Given the description of an element on the screen output the (x, y) to click on. 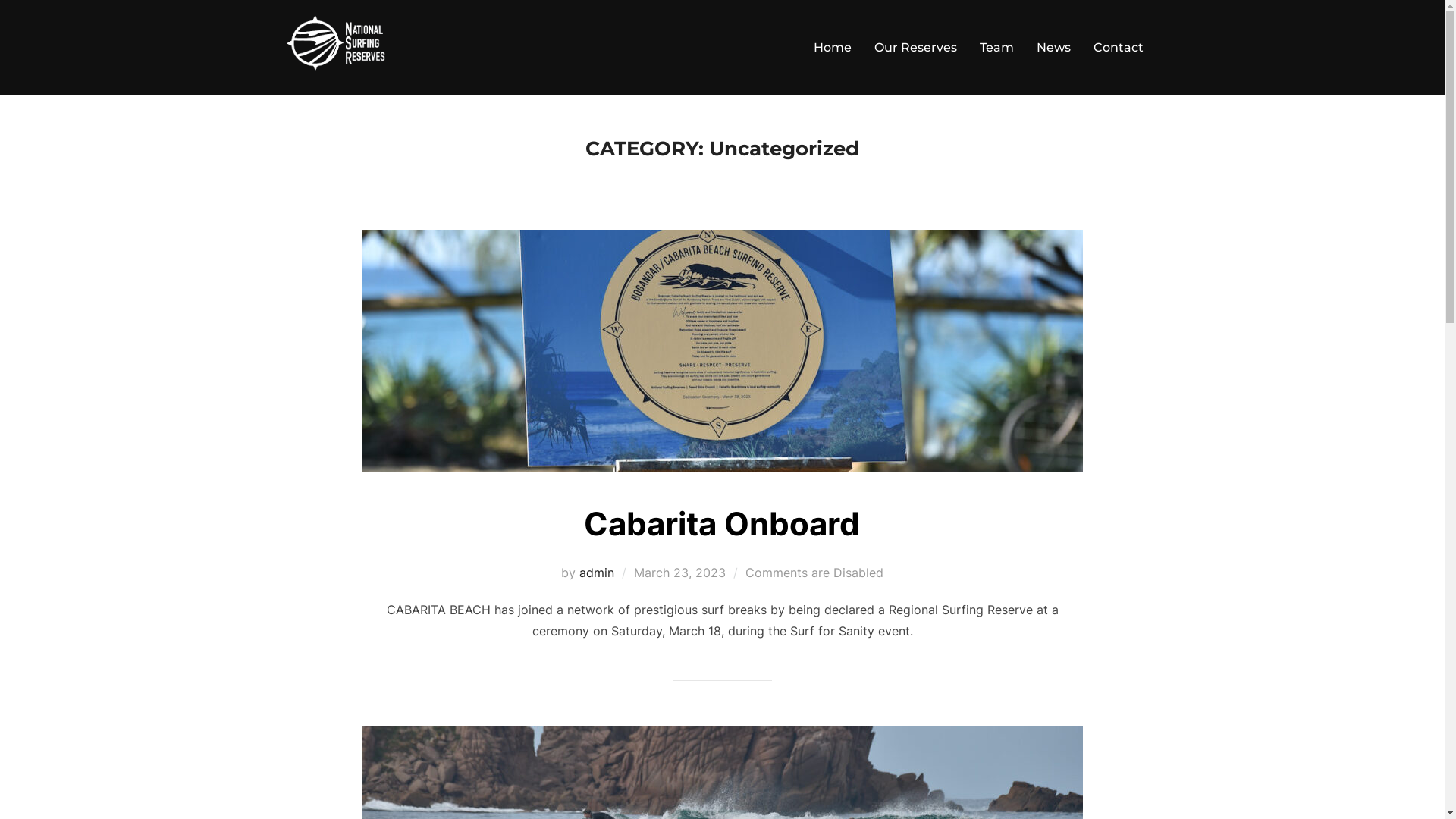
Home Element type: text (831, 47)
Team Element type: text (996, 47)
News Element type: text (1052, 47)
Contact Element type: text (1118, 47)
Our Reserves Element type: text (914, 47)
admin Element type: text (596, 573)
Cabarita Onboard Element type: text (721, 523)
